Given the description of an element on the screen output the (x, y) to click on. 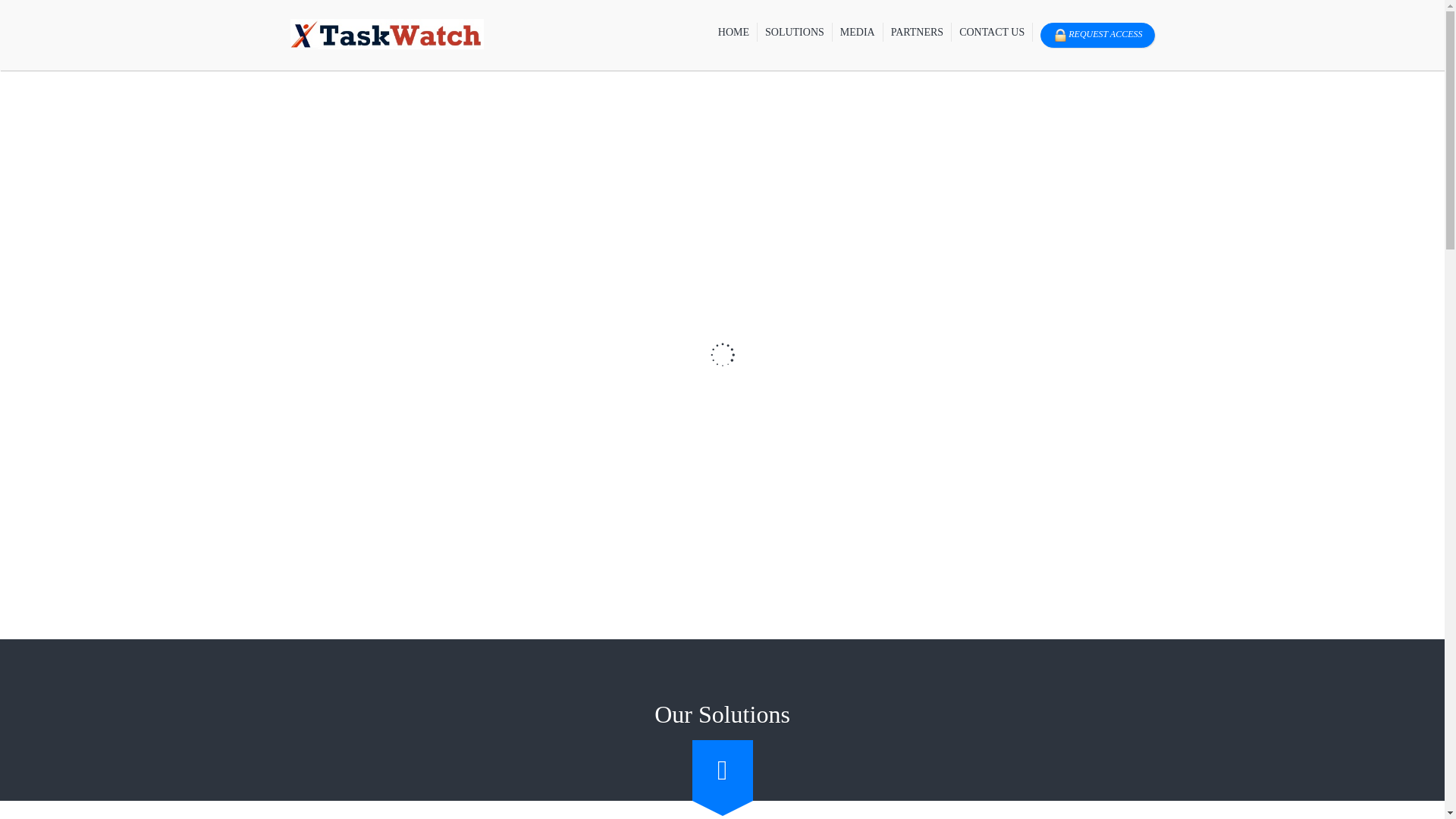
MEDIA (857, 31)
SOLUTIONS (794, 31)
REQUEST ACCESS (1093, 34)
CONTACT US (992, 31)
PARTNERS (917, 31)
HOME (733, 31)
REQUEST ACCESS (1097, 34)
